Given the description of an element on the screen output the (x, y) to click on. 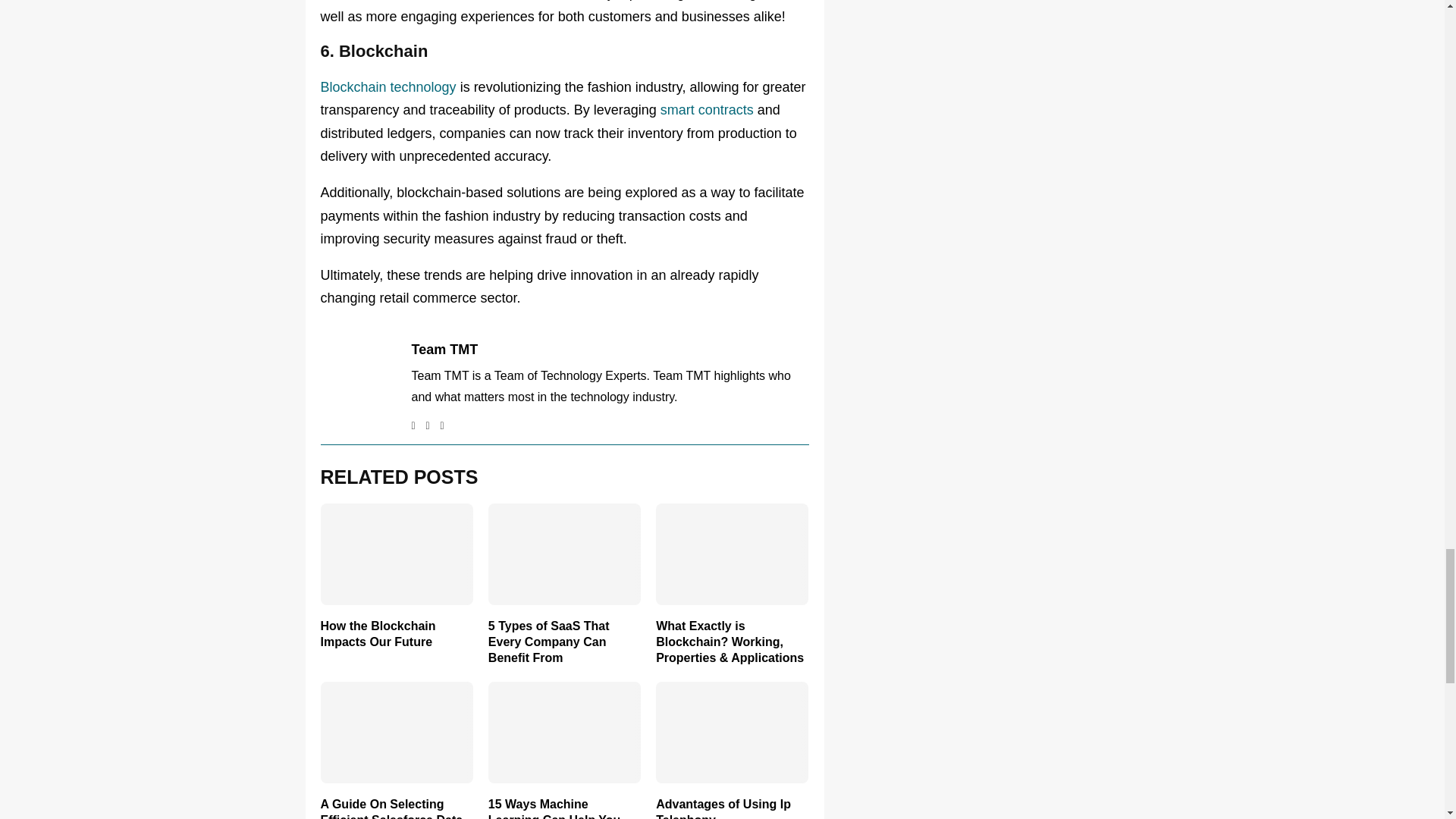
Posts by Team TMT (443, 349)
